Given the description of an element on the screen output the (x, y) to click on. 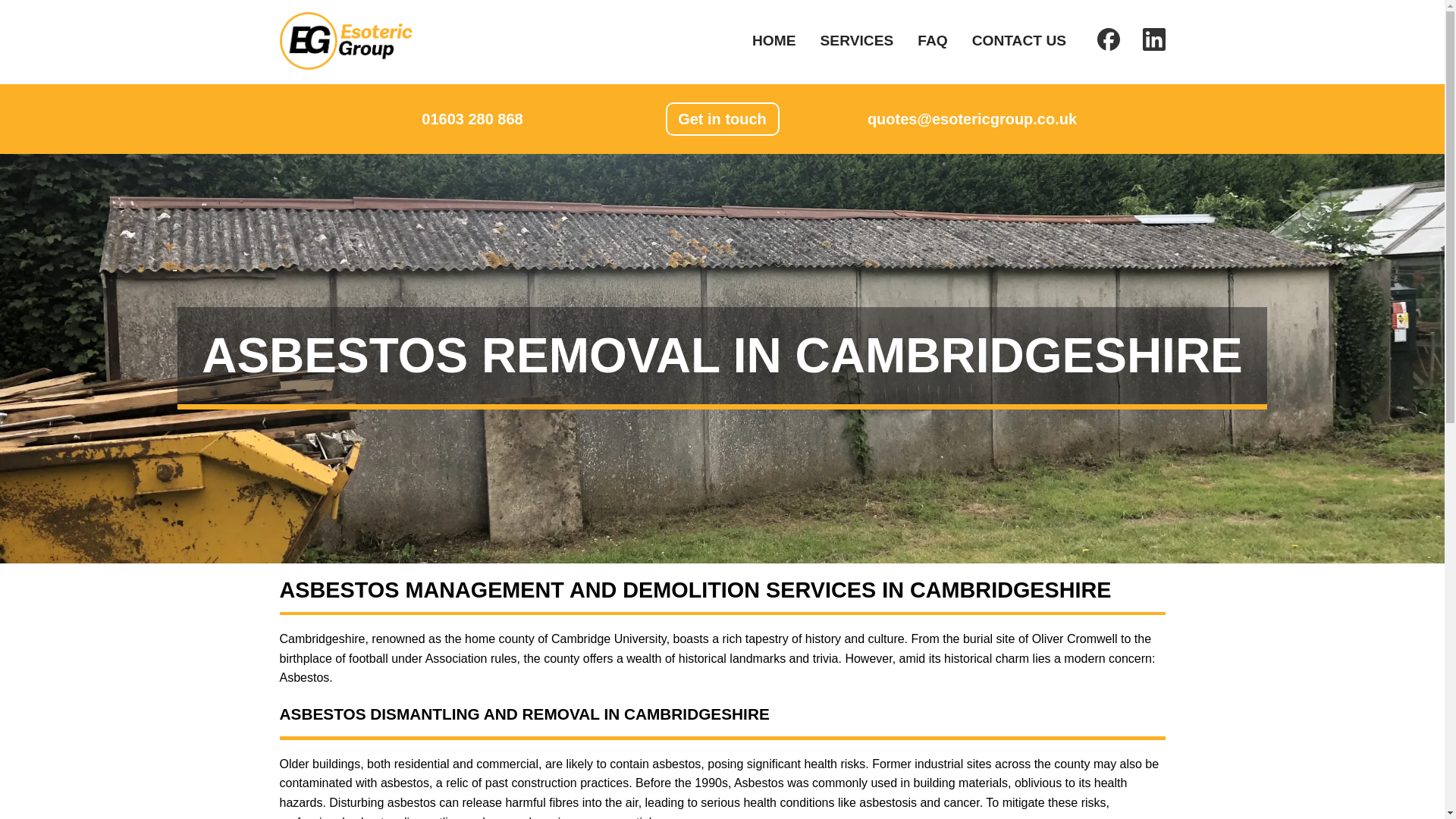
CONTACT US (1018, 40)
Facebook (1100, 48)
LinkedIn (1152, 38)
Get in touch (721, 118)
SERVICES (857, 40)
LinkedIn (1145, 48)
FAQ (932, 40)
HOME (774, 40)
Facebook (1108, 38)
